Given the description of an element on the screen output the (x, y) to click on. 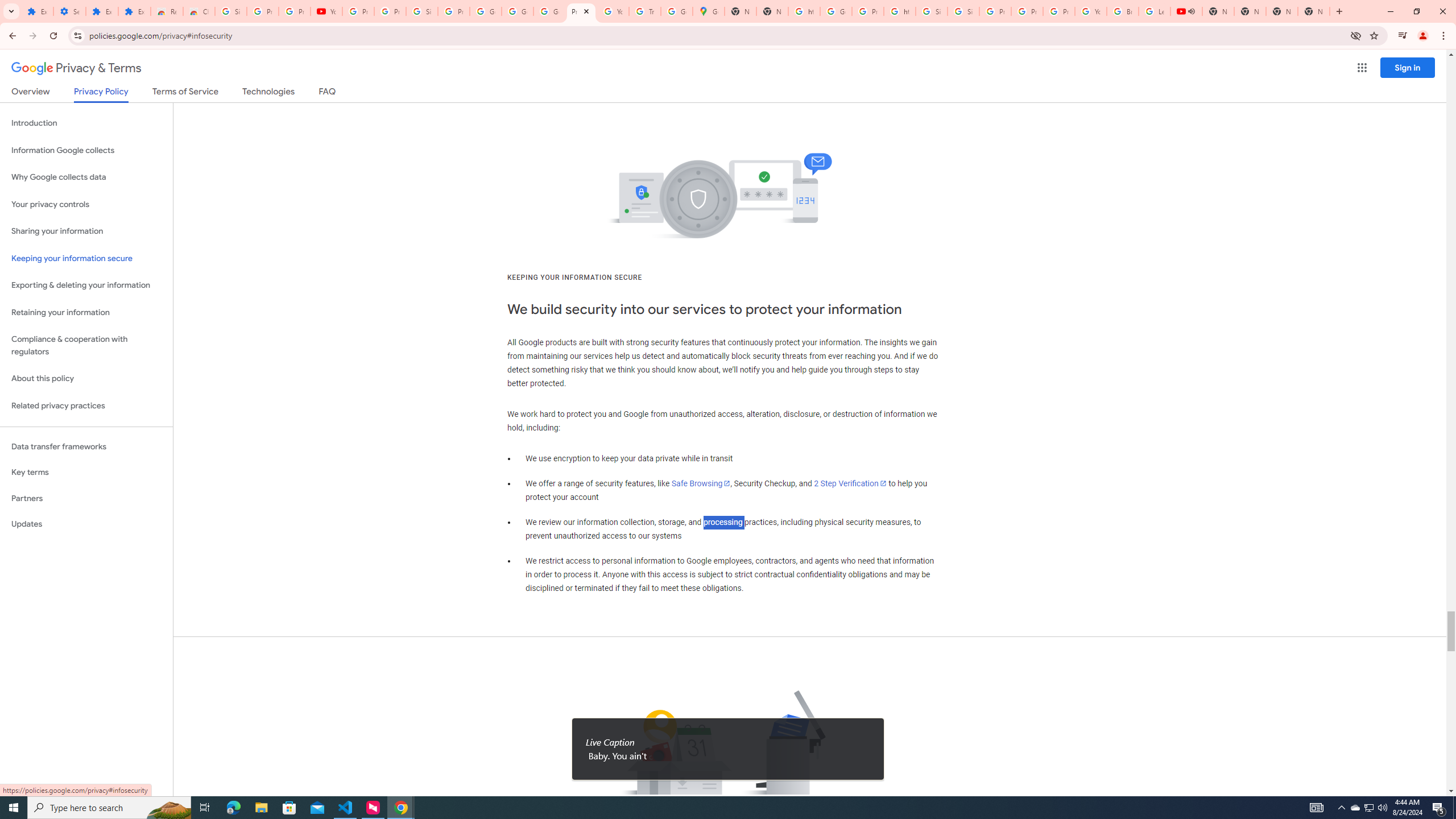
New Tab (1313, 11)
Reviews: Helix Fruit Jump Arcade Game (166, 11)
Why Google collects data (86, 176)
Compliance & cooperation with regulators (86, 345)
Google Maps (708, 11)
2 Step Verification (849, 483)
Exporting & deleting your information (86, 284)
About this policy (86, 379)
